Given the description of an element on the screen output the (x, y) to click on. 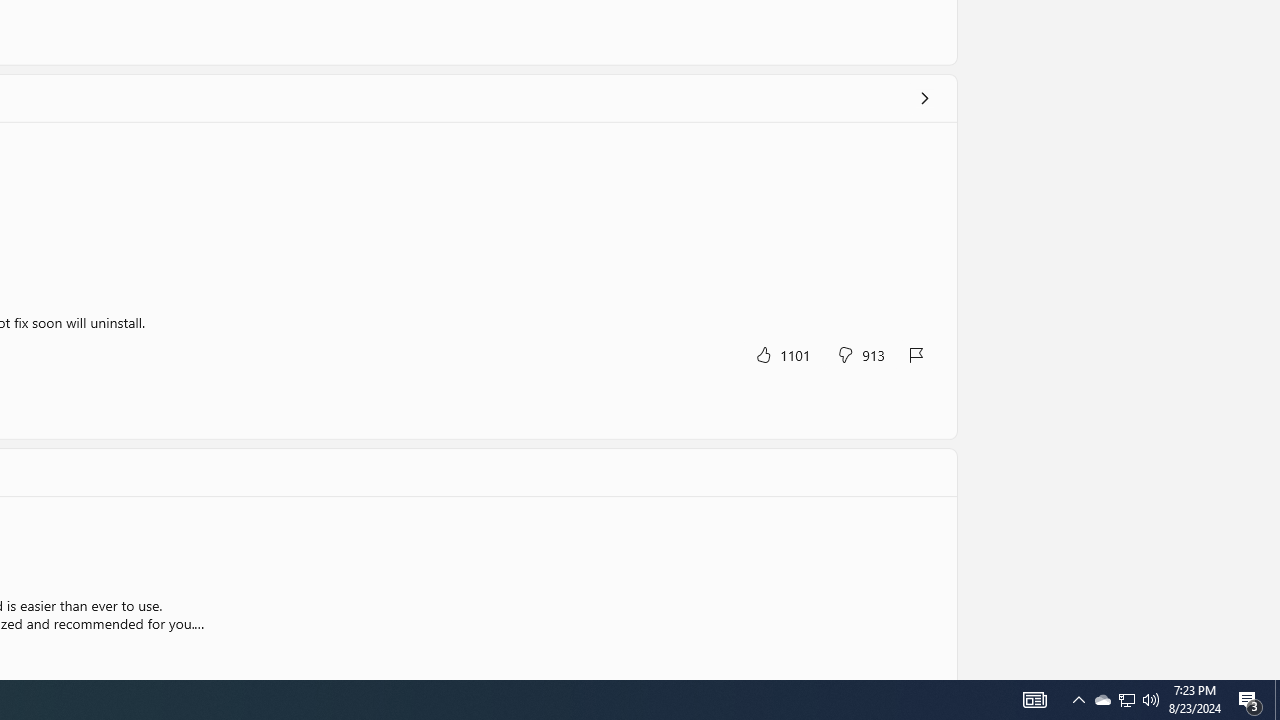
Report review (917, 354)
Show all ratings and reviews (924, 97)
Yes, this was helpful. 1101 votes. (782, 354)
No, this was not helpful. 913 votes. (860, 354)
